Given the description of an element on the screen output the (x, y) to click on. 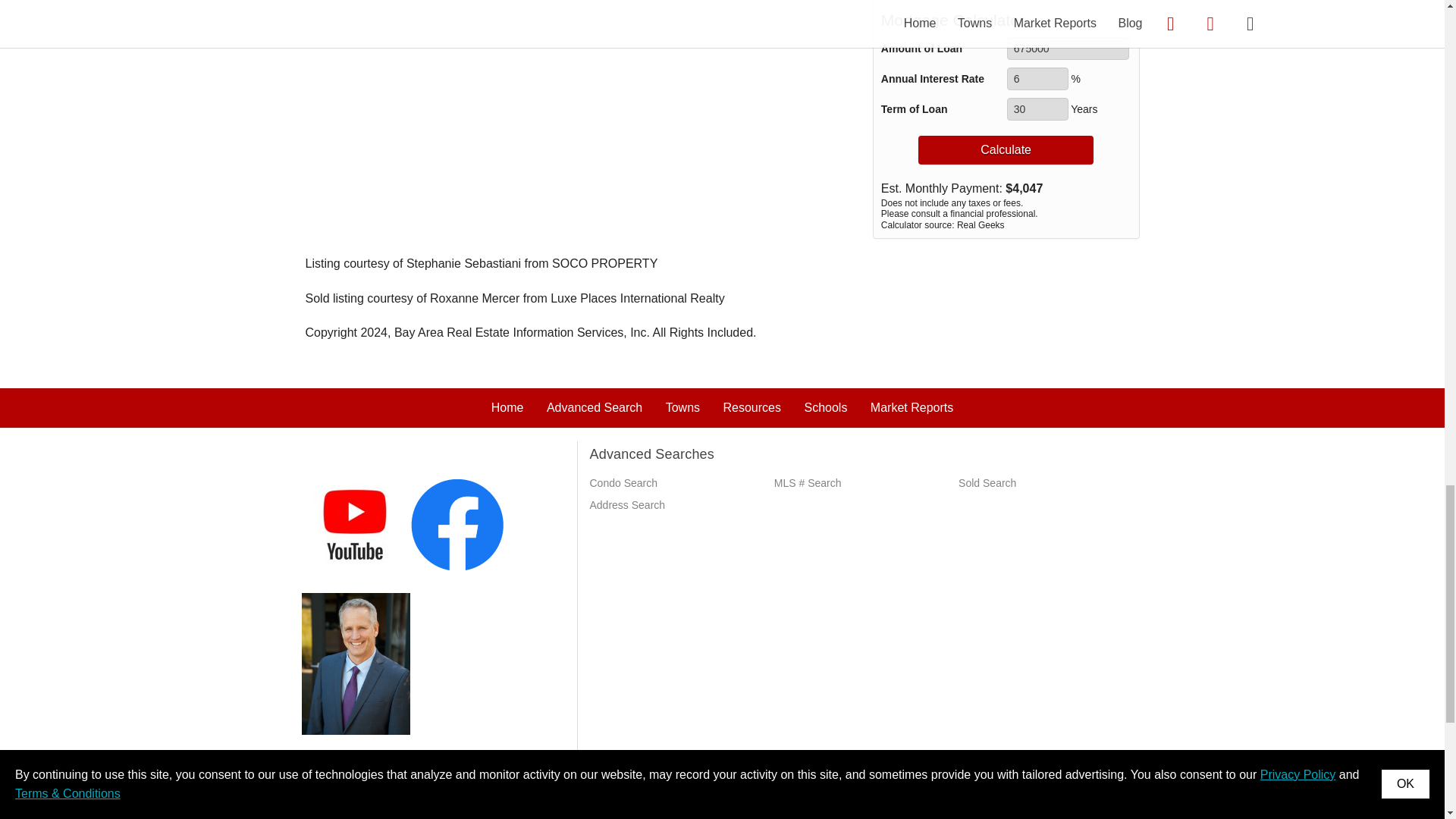
30 (1037, 108)
6 (1037, 78)
675000 (1068, 47)
